Given the description of an element on the screen output the (x, y) to click on. 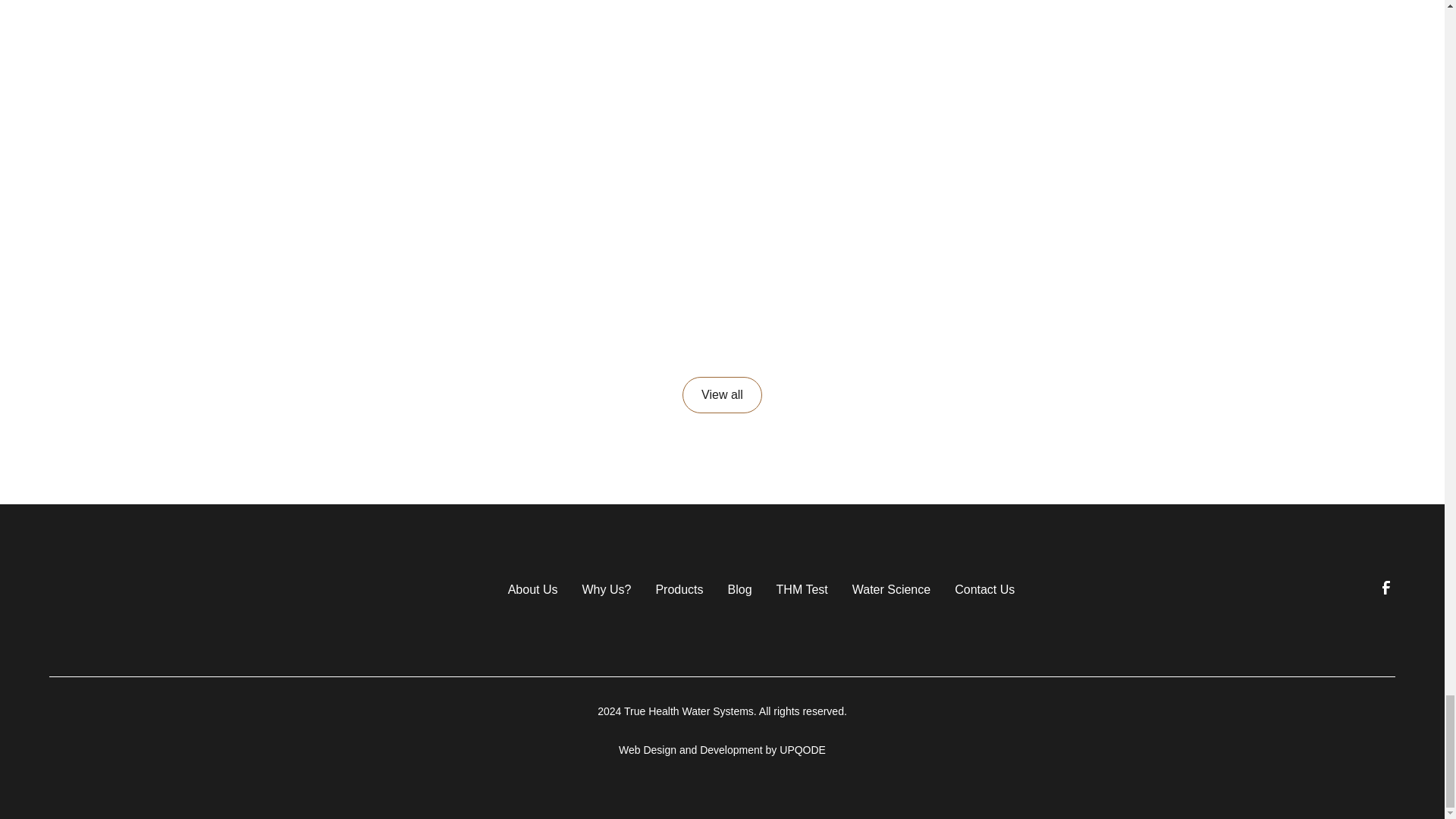
Products (679, 589)
THM Test (802, 589)
Why Us? (605, 589)
About Us (532, 589)
View all (721, 394)
